Given the description of an element on the screen output the (x, y) to click on. 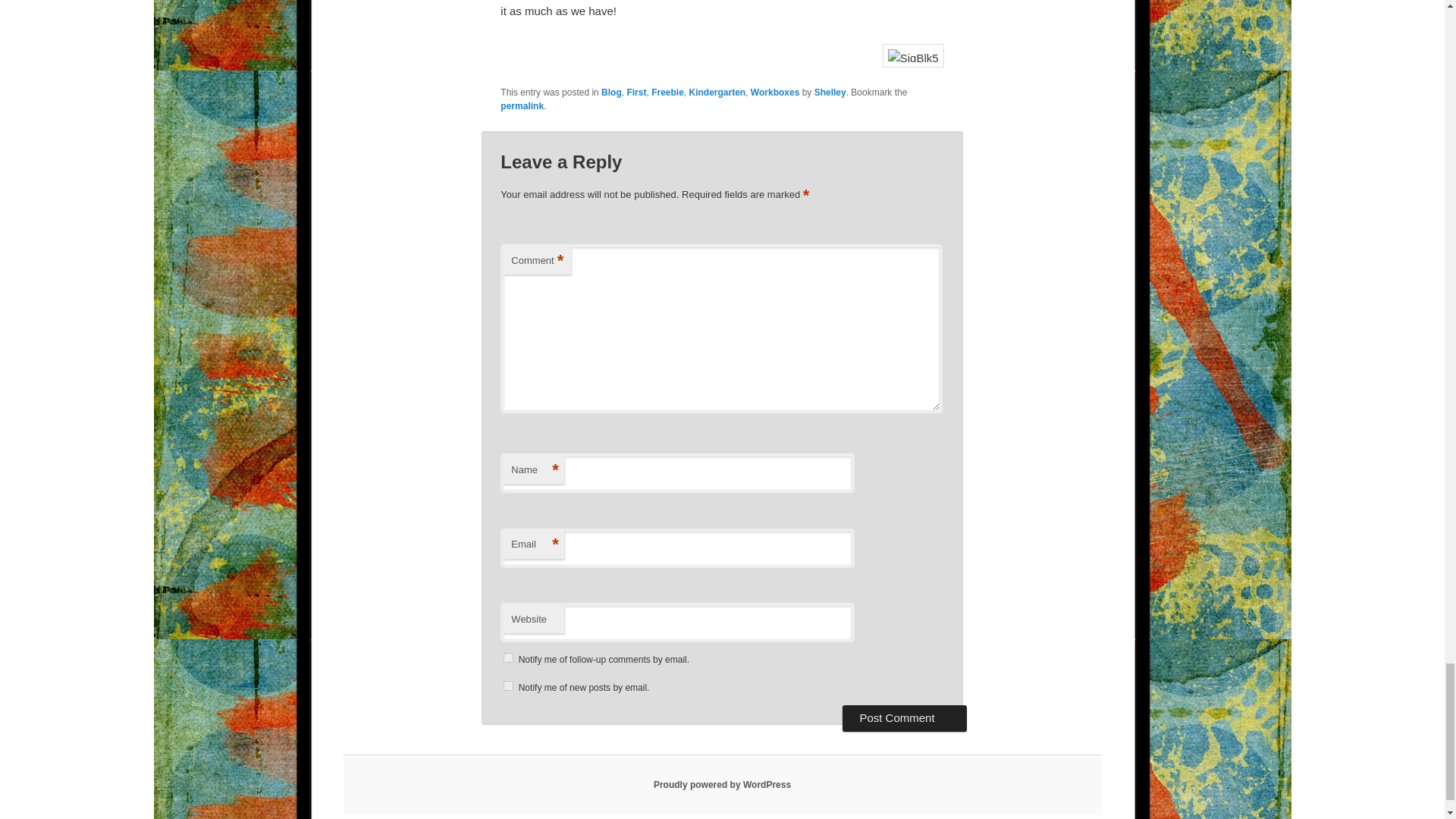
Semantic Personal Publishing Platform (721, 784)
subscribe (508, 657)
Post Comment (904, 718)
subscribe (508, 685)
